Given the description of an element on the screen output the (x, y) to click on. 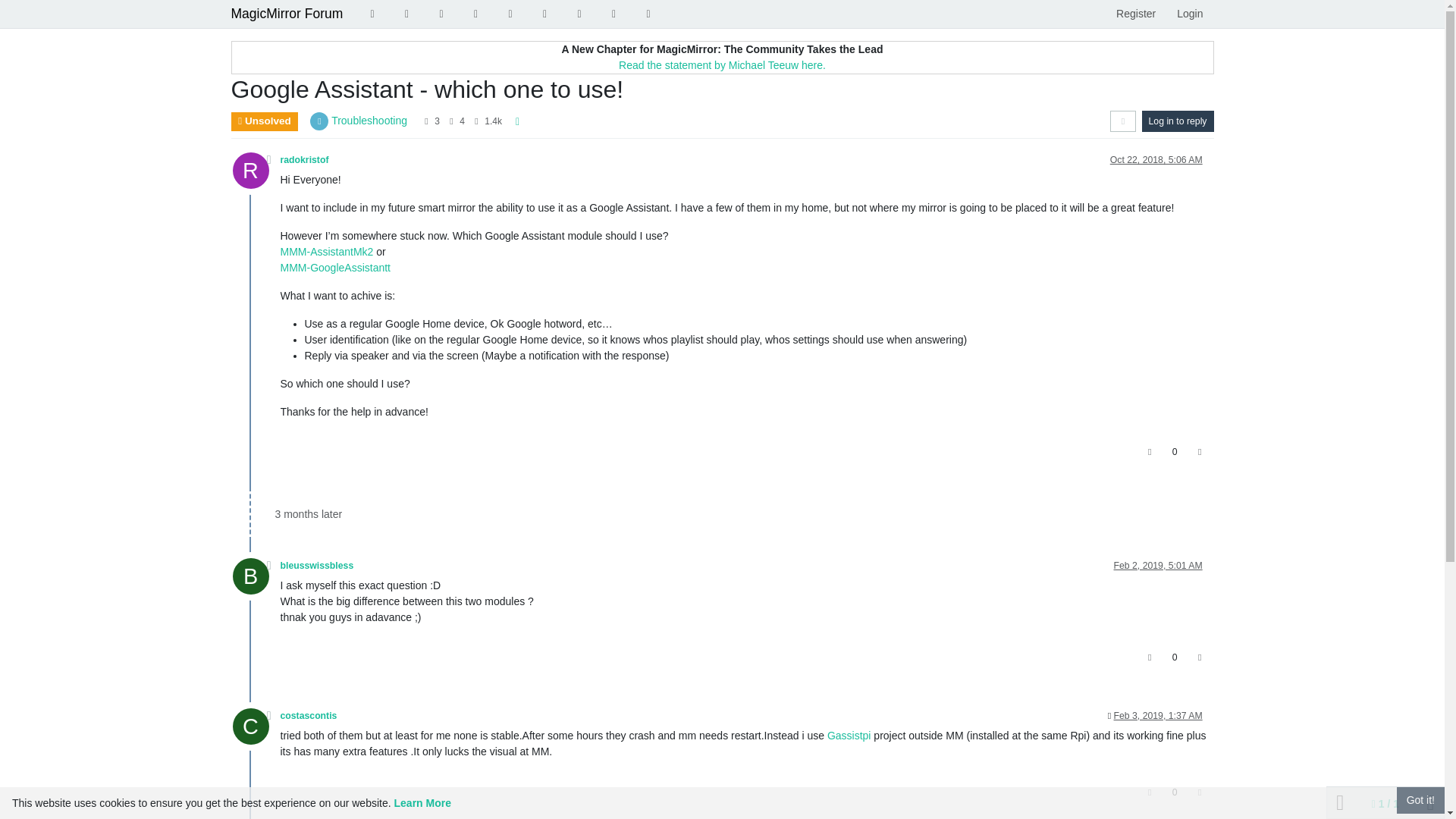
Recent (372, 13)
3rd-Party-Modules (579, 13)
Register (1135, 13)
Login (1189, 13)
Log in to reply (1177, 120)
Donate (613, 13)
Join our Discord channel. (647, 13)
MagicMirror Forum (286, 13)
R (255, 174)
Tags (407, 13)
